Given the description of an element on the screen output the (x, y) to click on. 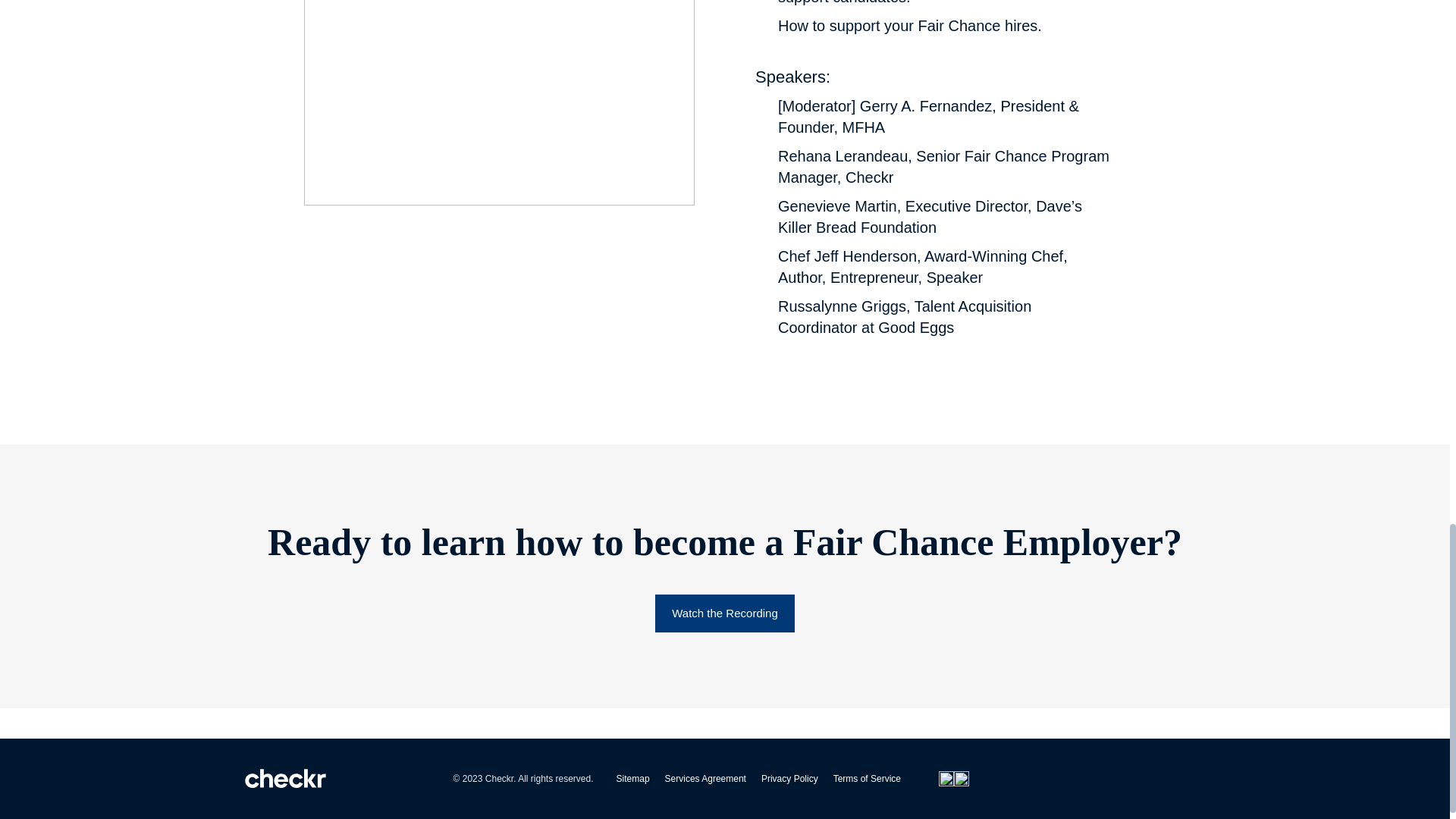
Checkr Home (285, 778)
